Given the description of an element on the screen output the (x, y) to click on. 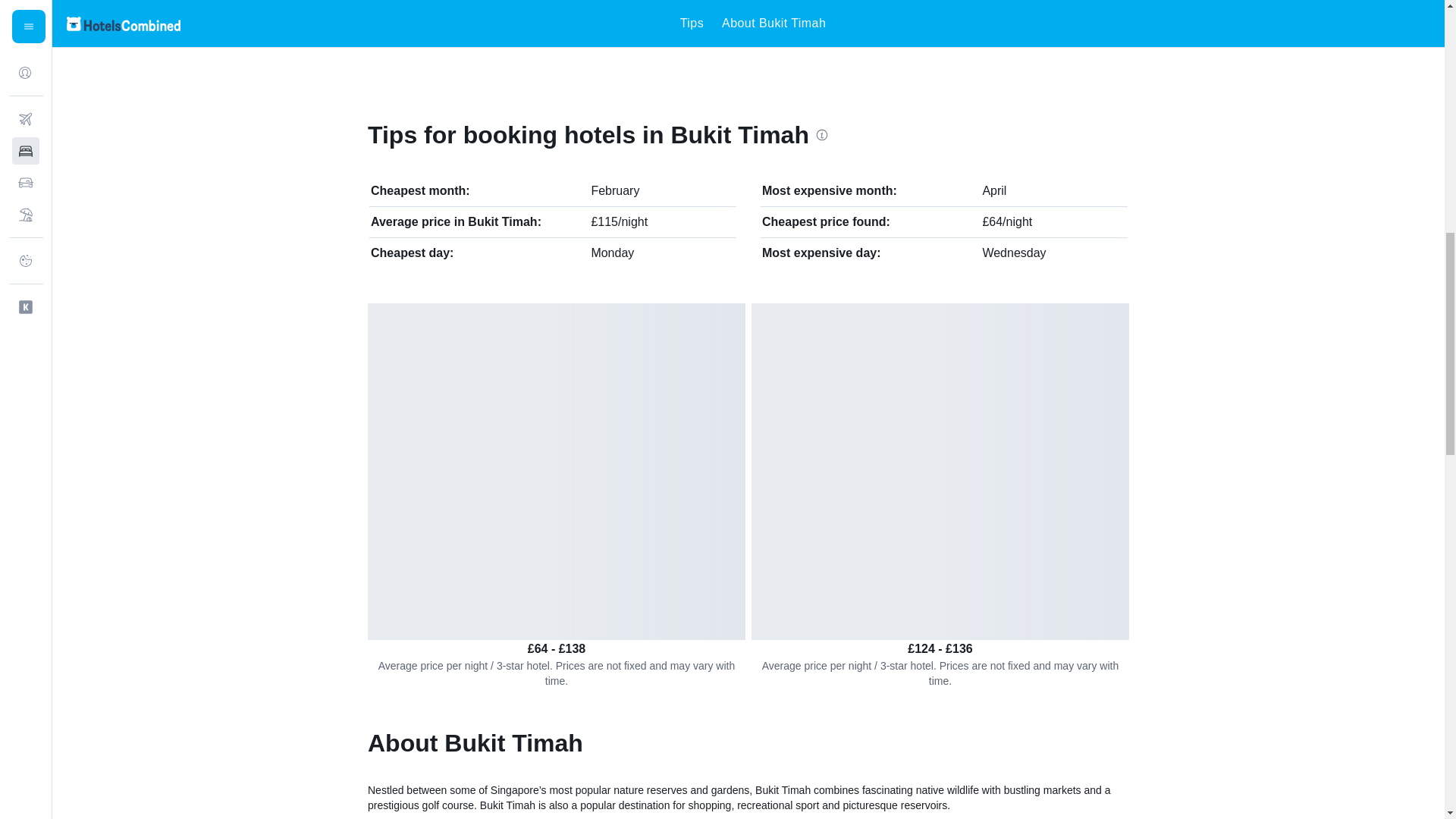
April (993, 190)
Monday (612, 252)
Wednesday (1013, 252)
Home (373, 22)
February (615, 190)
Central Area Hotels (555, 22)
Singapore Hotels (439, 22)
